Given the description of an element on the screen output the (x, y) to click on. 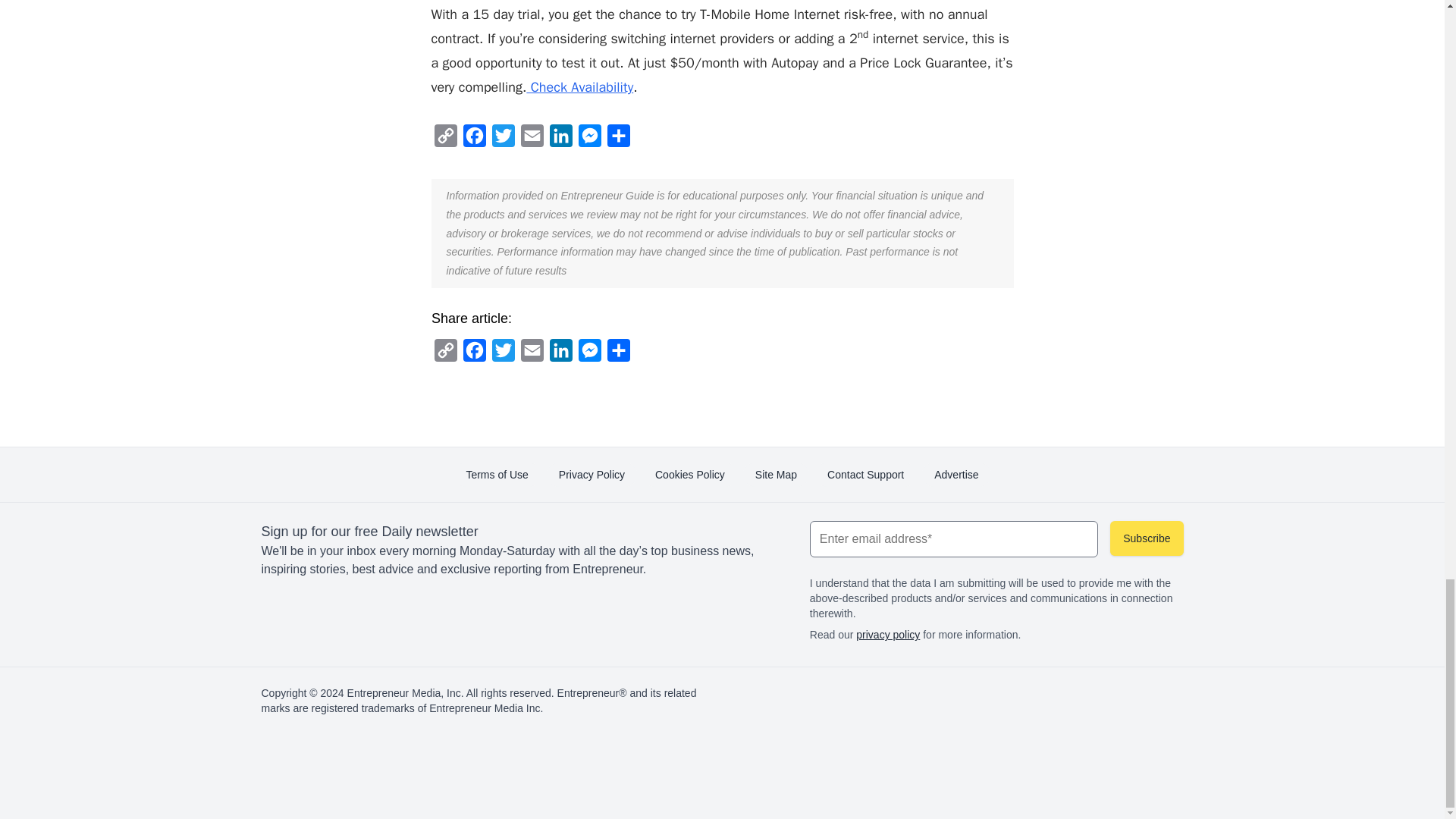
Twitter (501, 139)
Messenger (589, 139)
LinkedIn (560, 139)
Facebook (474, 354)
Copy Link (445, 354)
Twitter (503, 354)
LinkedIn (561, 354)
Email (531, 139)
Copy Link (445, 139)
Facebook (473, 139)
